Given the description of an element on the screen output the (x, y) to click on. 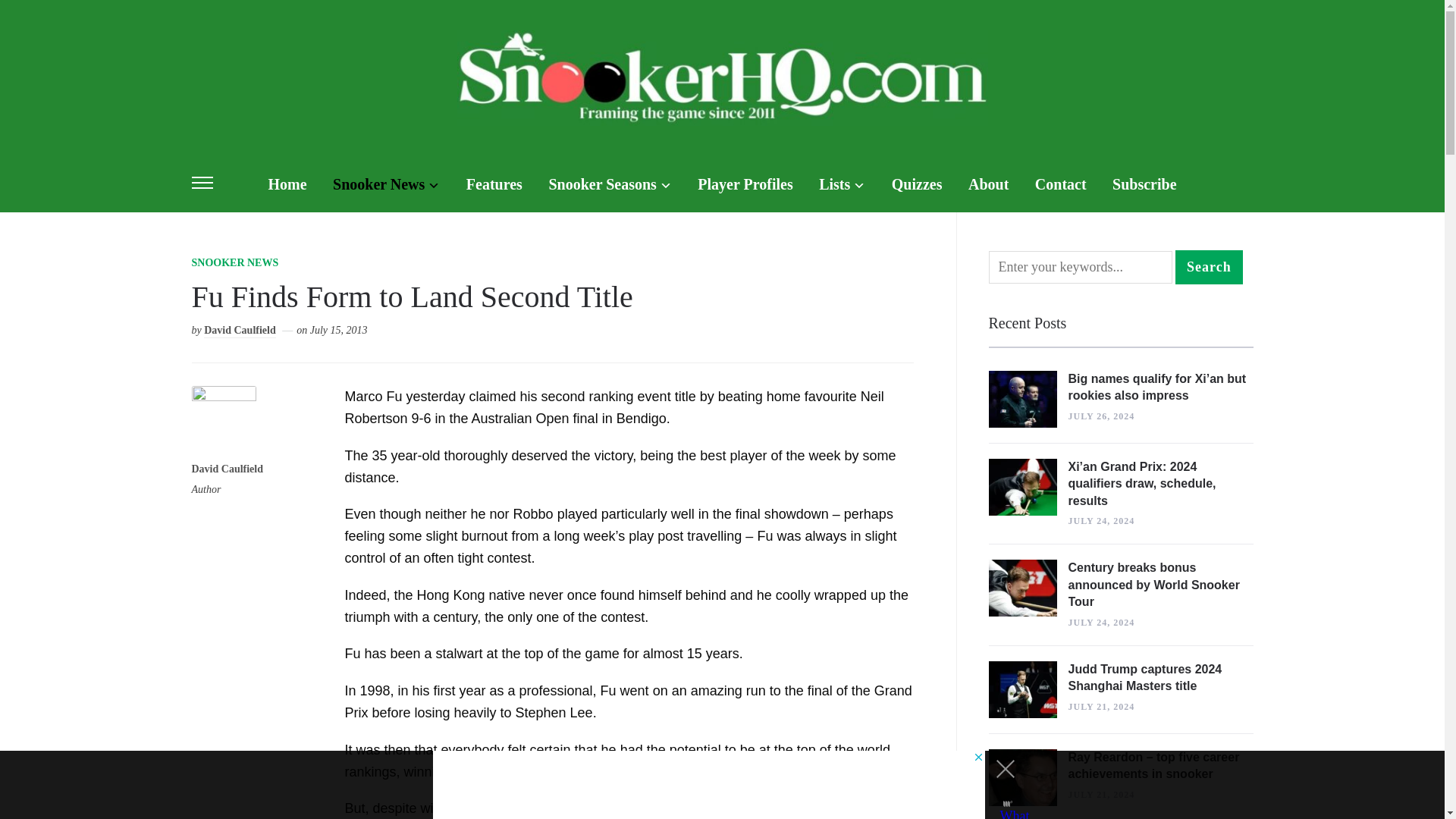
Posts by David Caulfield (239, 331)
Posts by David Caulfield (226, 469)
Search (1208, 267)
Search (1208, 267)
